Given the description of an element on the screen output the (x, y) to click on. 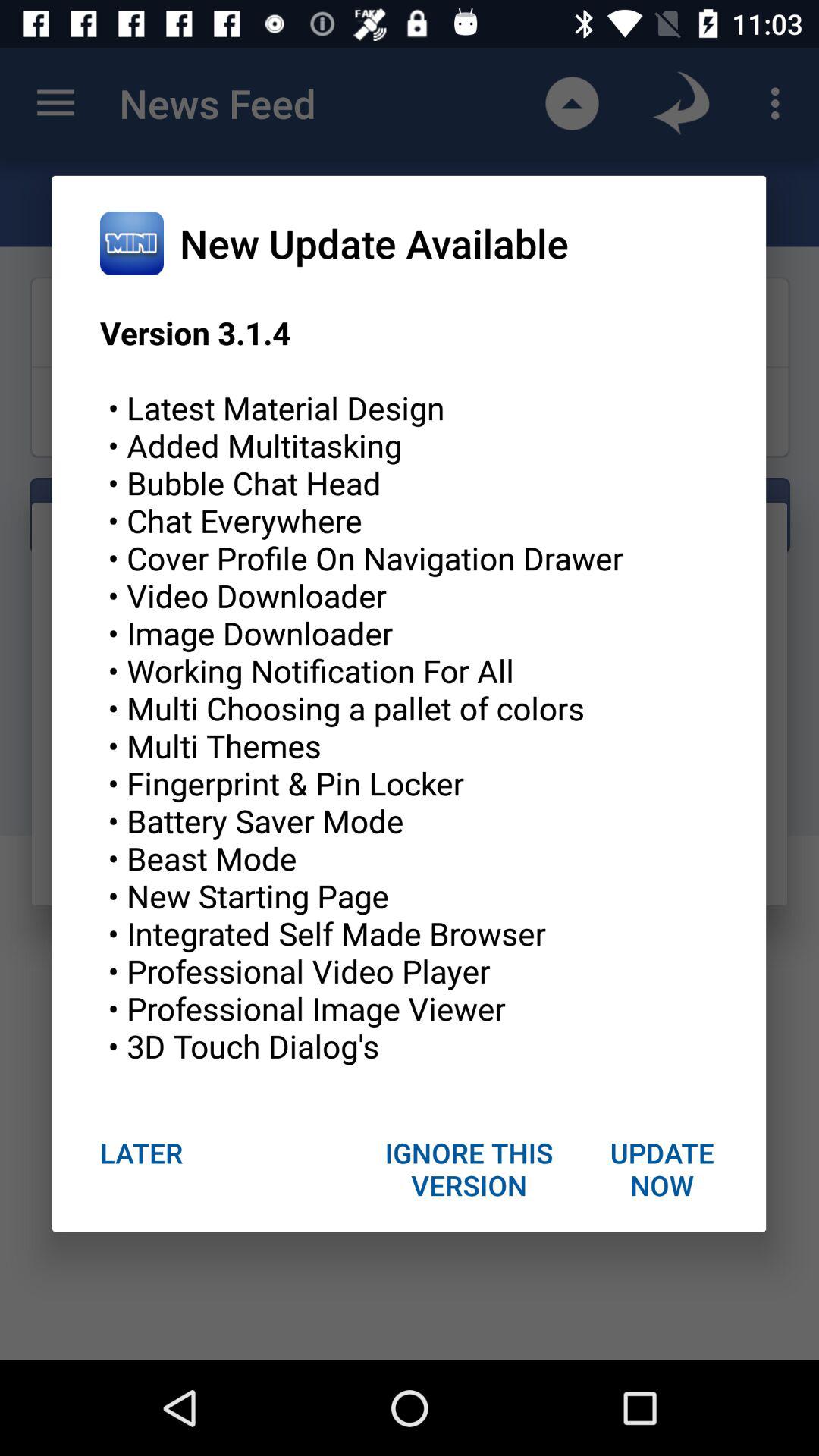
launch item next to ignore this
version icon (661, 1168)
